Given the description of an element on the screen output the (x, y) to click on. 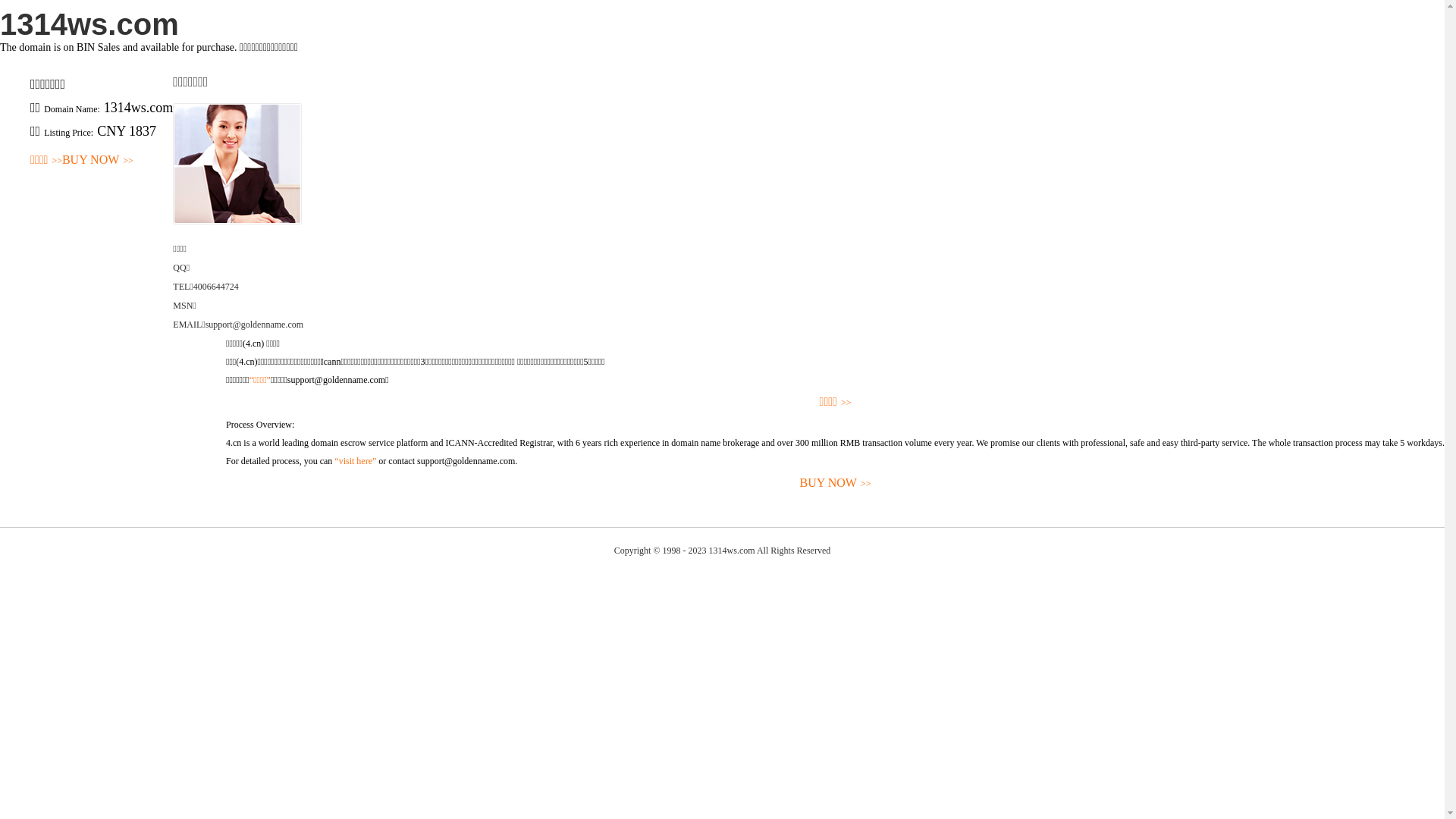
BUY NOW>> Element type: text (97, 160)
BUY NOW>> Element type: text (834, 483)
